Given the description of an element on the screen output the (x, y) to click on. 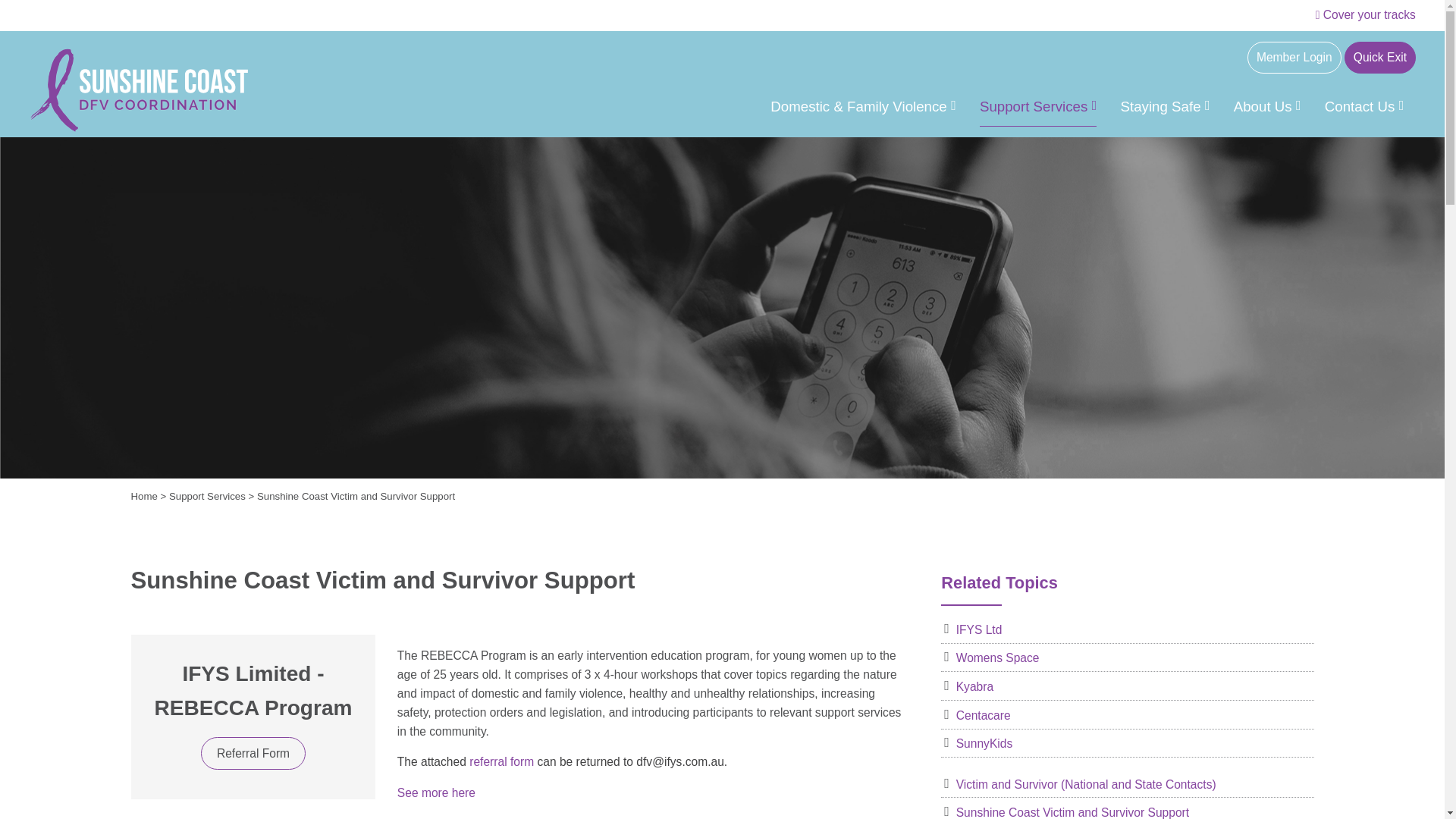
Quick Exit (1379, 57)
Womens Space (1126, 658)
Kyabra (1126, 687)
Member Login (1293, 57)
 Sunshine Coast Victim and Survivor Support (1126, 811)
SunnyKids (1126, 743)
IFYS Ltd (1126, 629)
Centacare (1126, 715)
